Given the description of an element on the screen output the (x, y) to click on. 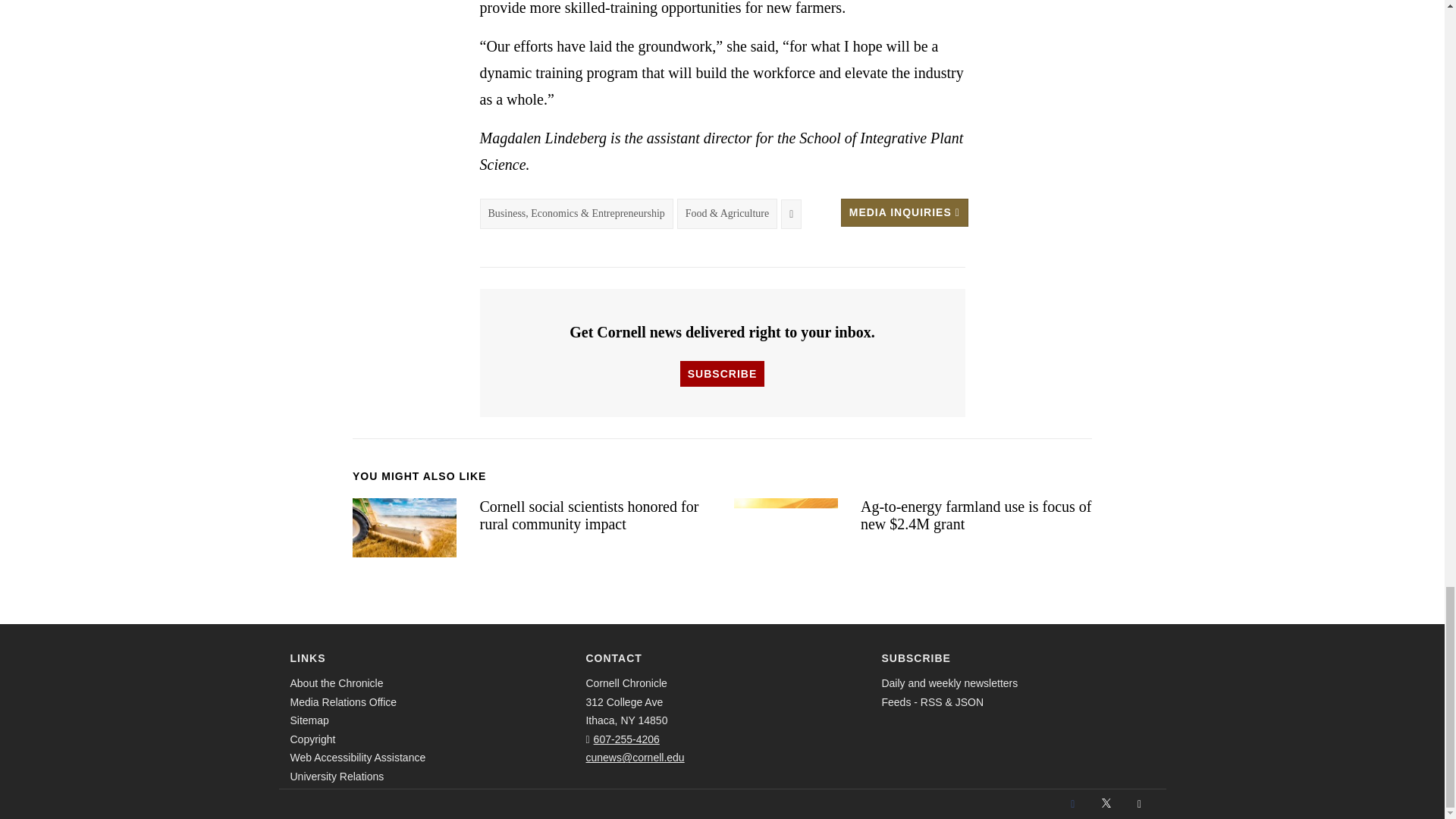
Cornell social scientists honored for rural community impact (404, 527)
